Given the description of an element on the screen output the (x, y) to click on. 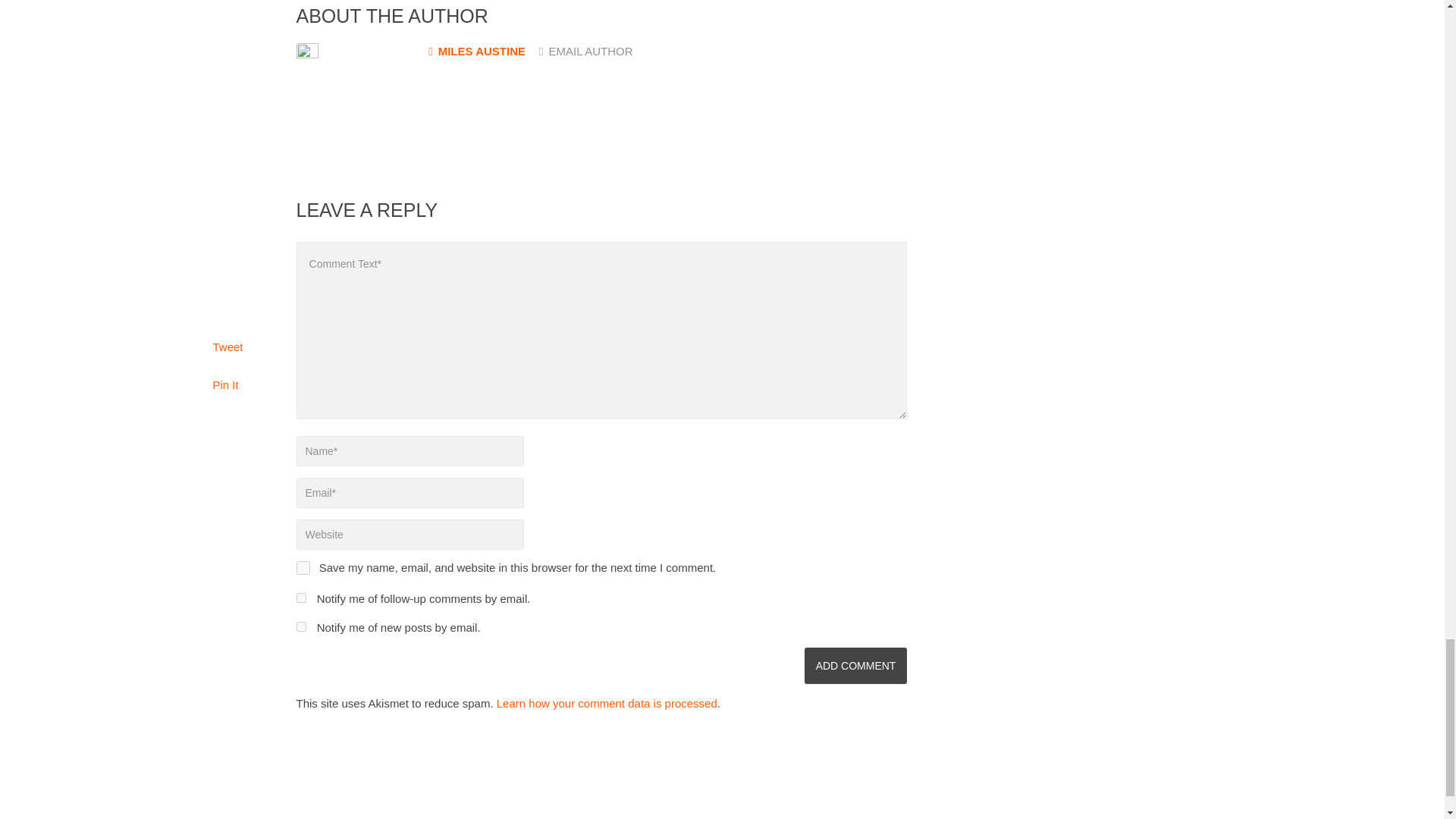
subscribe (300, 626)
Add Comment (856, 665)
subscribe (300, 597)
yes (301, 567)
